Given the description of an element on the screen output the (x, y) to click on. 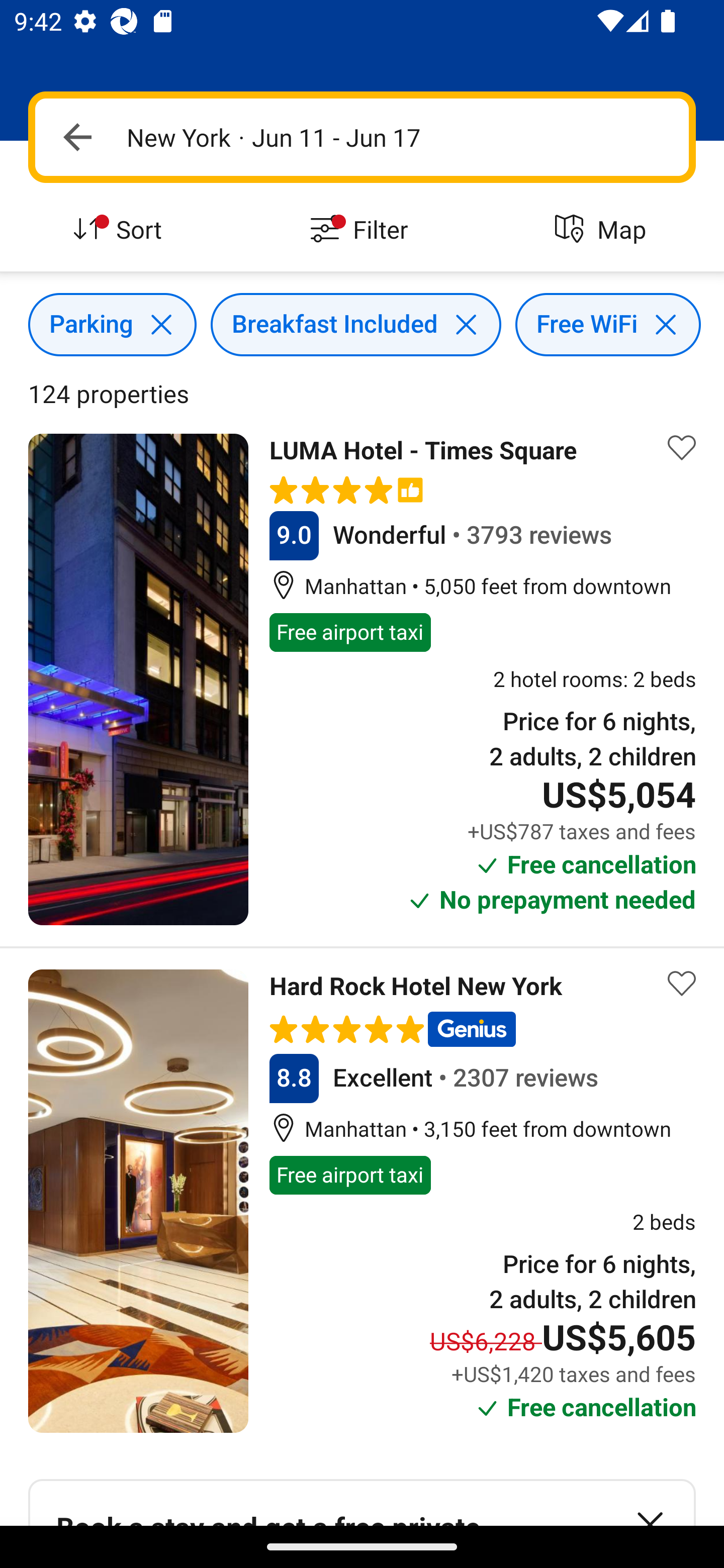
Navigate up New York · Jun 11 - Jun 17 (362, 136)
Navigate up (77, 136)
Sort (120, 230)
Filter (361, 230)
Map (603, 230)
Save property to list (681, 447)
Save property to list (681, 982)
